Given the description of an element on the screen output the (x, y) to click on. 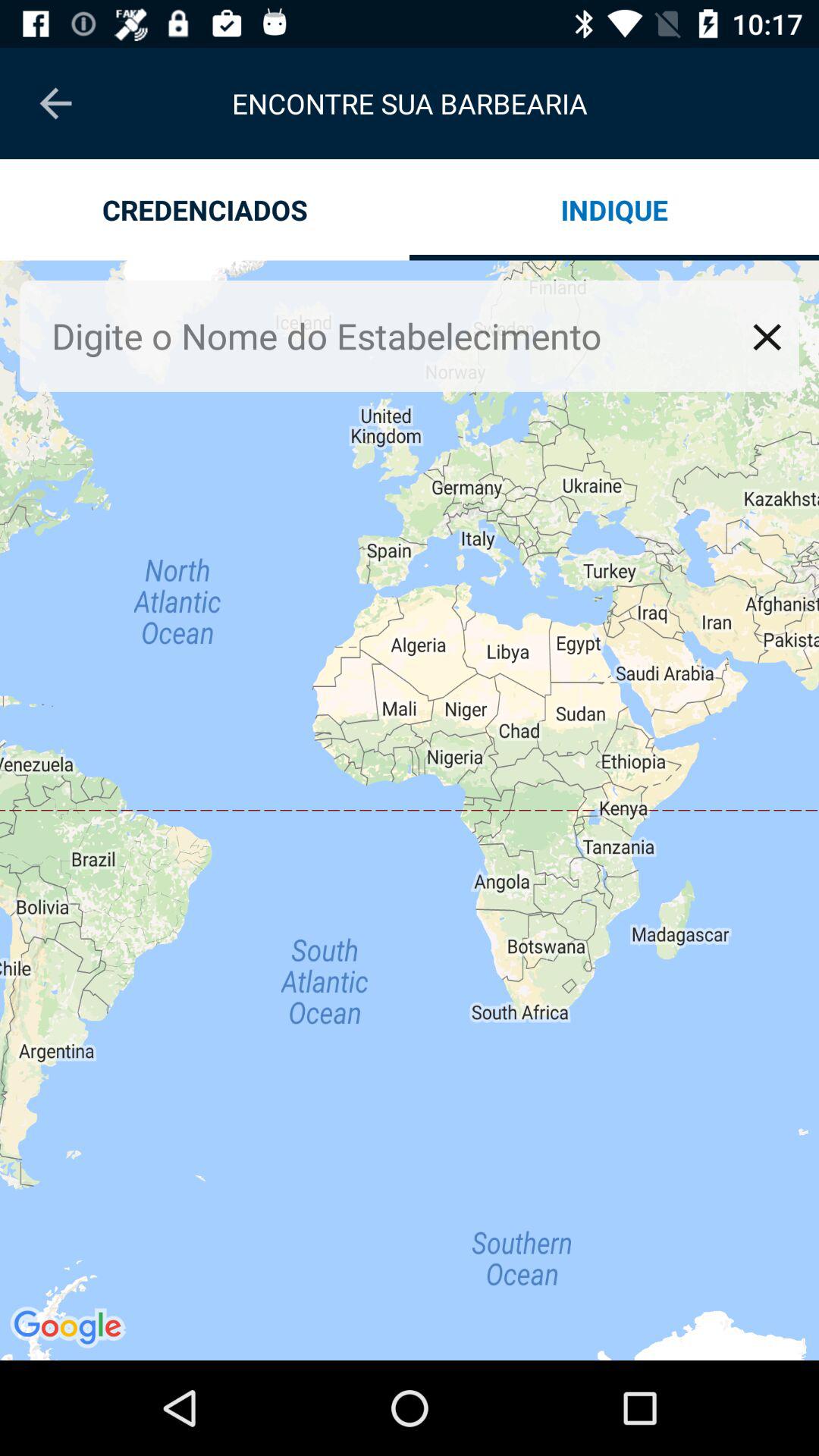
close window (767, 337)
